Given the description of an element on the screen output the (x, y) to click on. 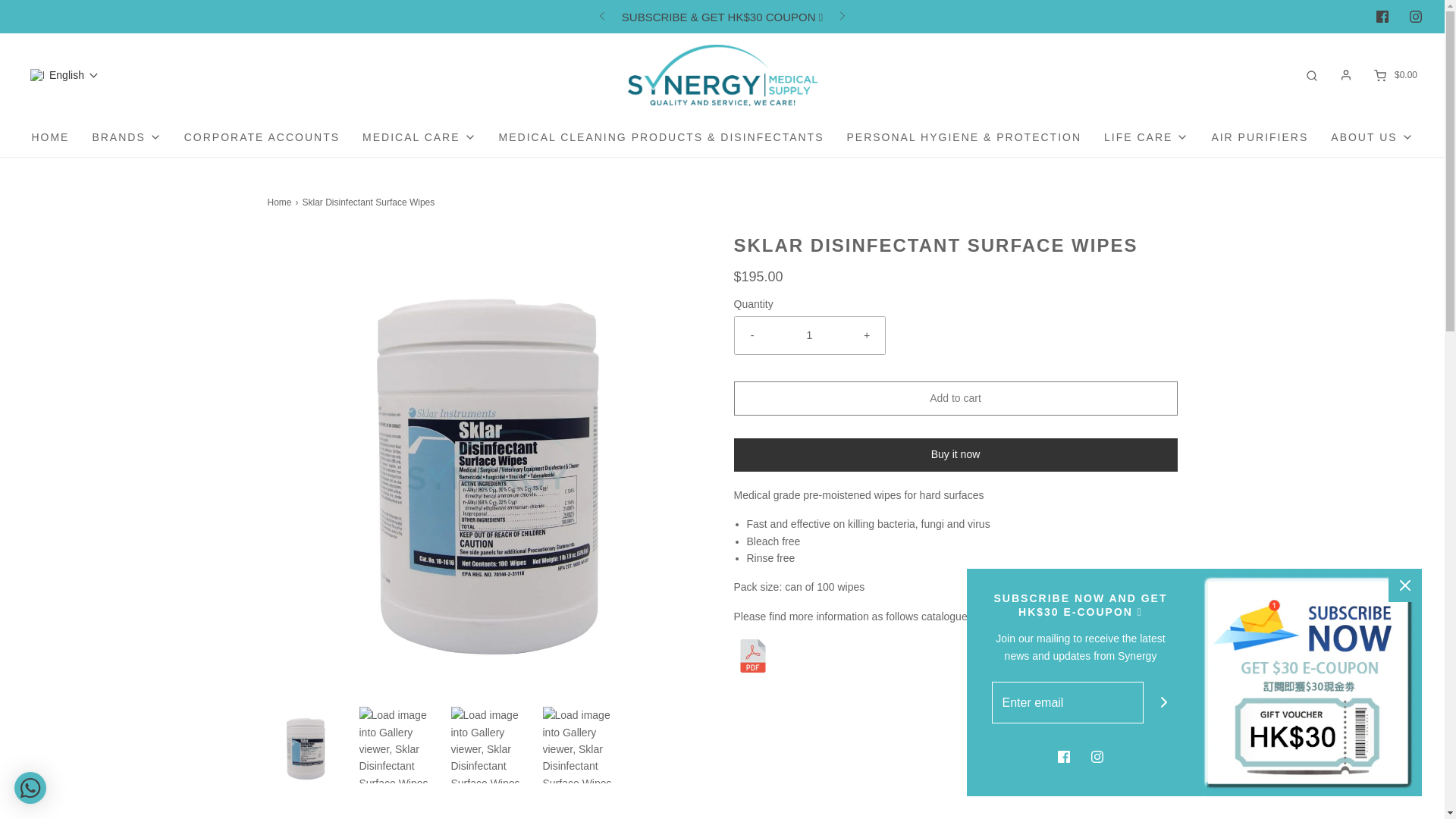
Search (1311, 75)
Log in (1345, 74)
1 (809, 334)
Cart (1394, 75)
Back to the frontpage (280, 202)
